Given the description of an element on the screen output the (x, y) to click on. 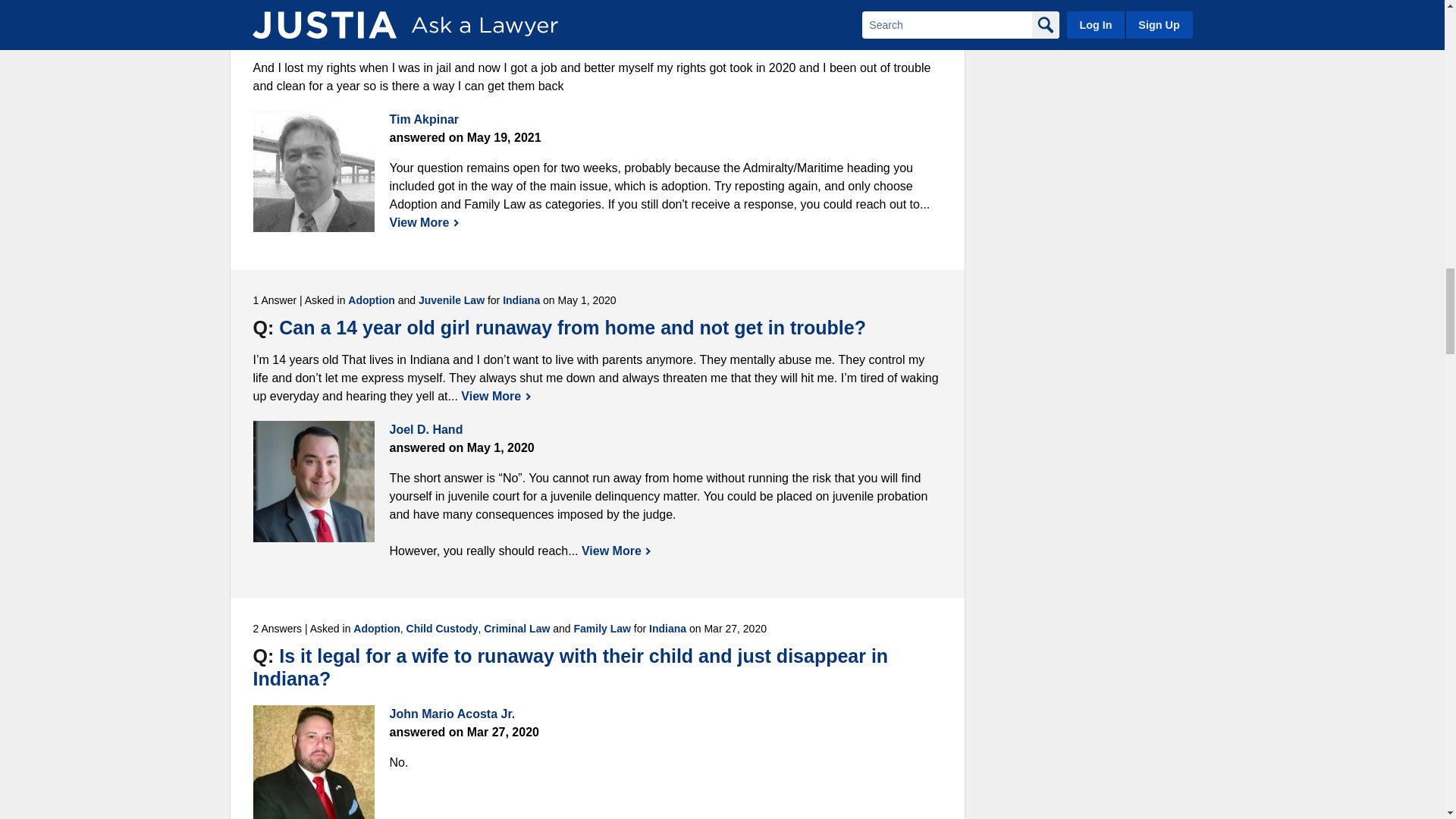
Tim Akpinar (313, 170)
Joel D. Hand (313, 481)
John Mario Acosta Jr. (313, 762)
